Given the description of an element on the screen output the (x, y) to click on. 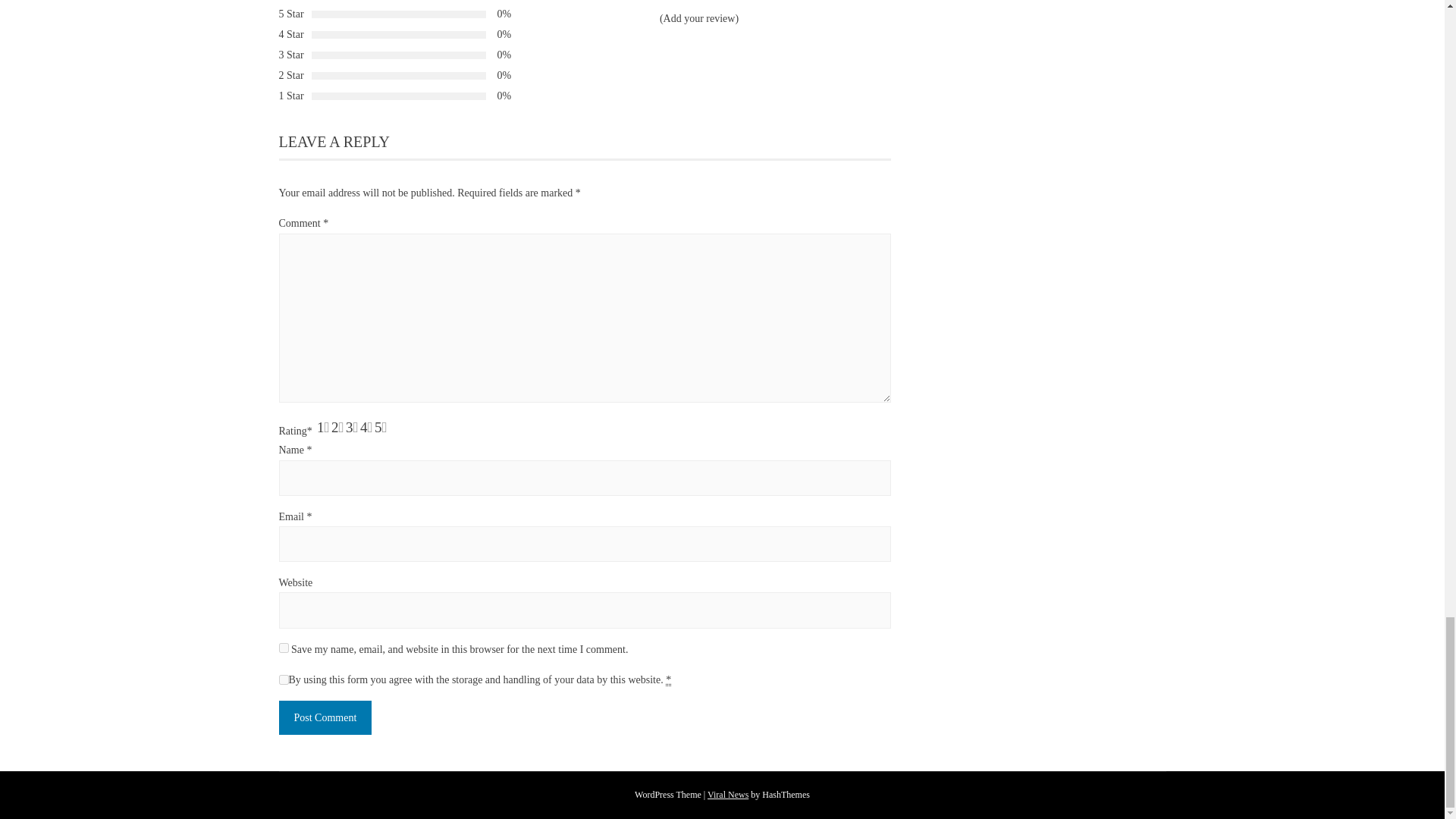
Download Viral News (727, 794)
yes (283, 647)
Post Comment (325, 717)
